Given the description of an element on the screen output the (x, y) to click on. 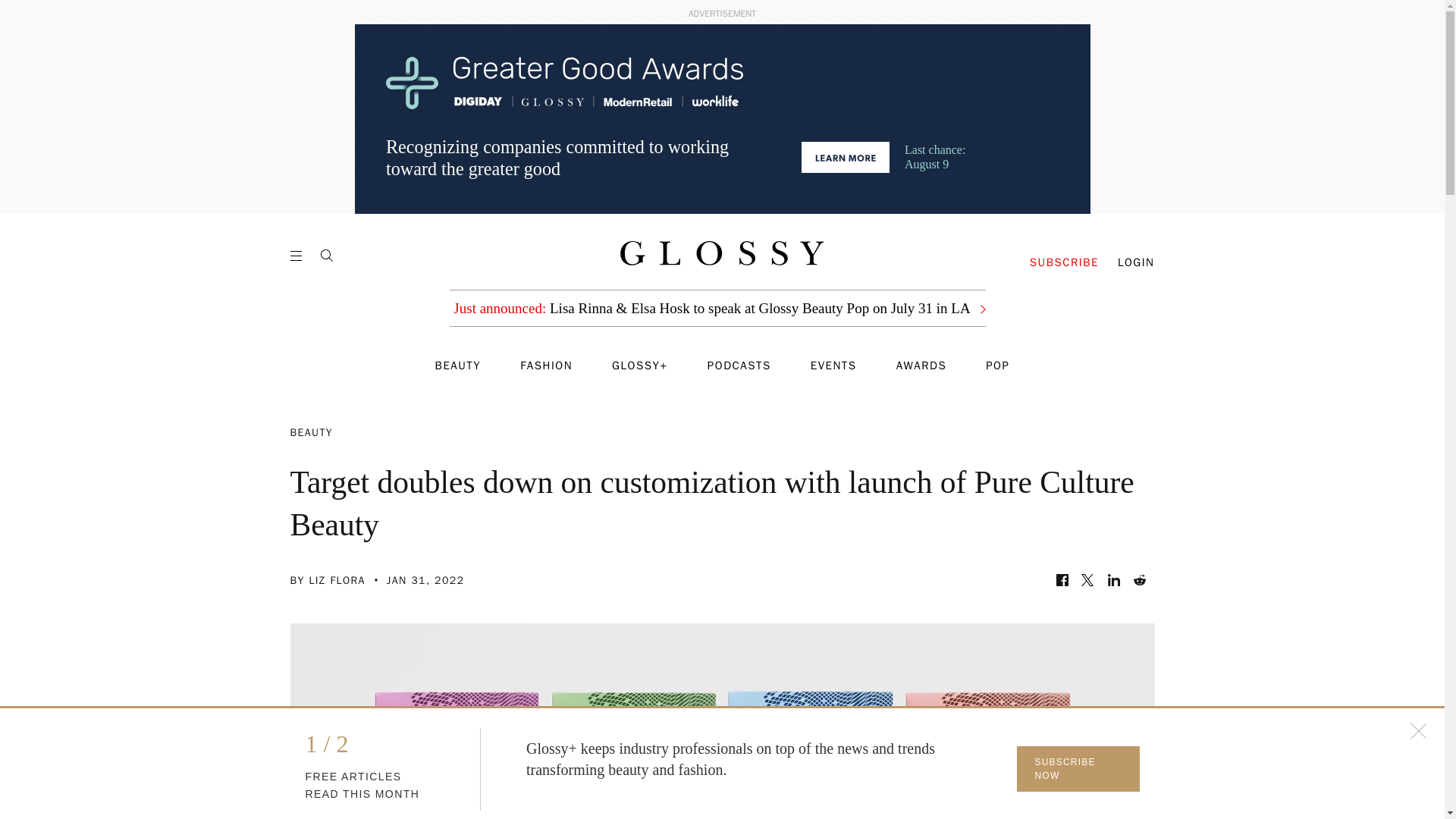
PODCASTS (739, 365)
AWARDS (921, 365)
BEAUTY (458, 365)
SUBSCRIBE (1064, 262)
POP (997, 365)
FASHION (545, 365)
LOGIN (1136, 262)
EVENTS (833, 365)
